Given the description of an element on the screen output the (x, y) to click on. 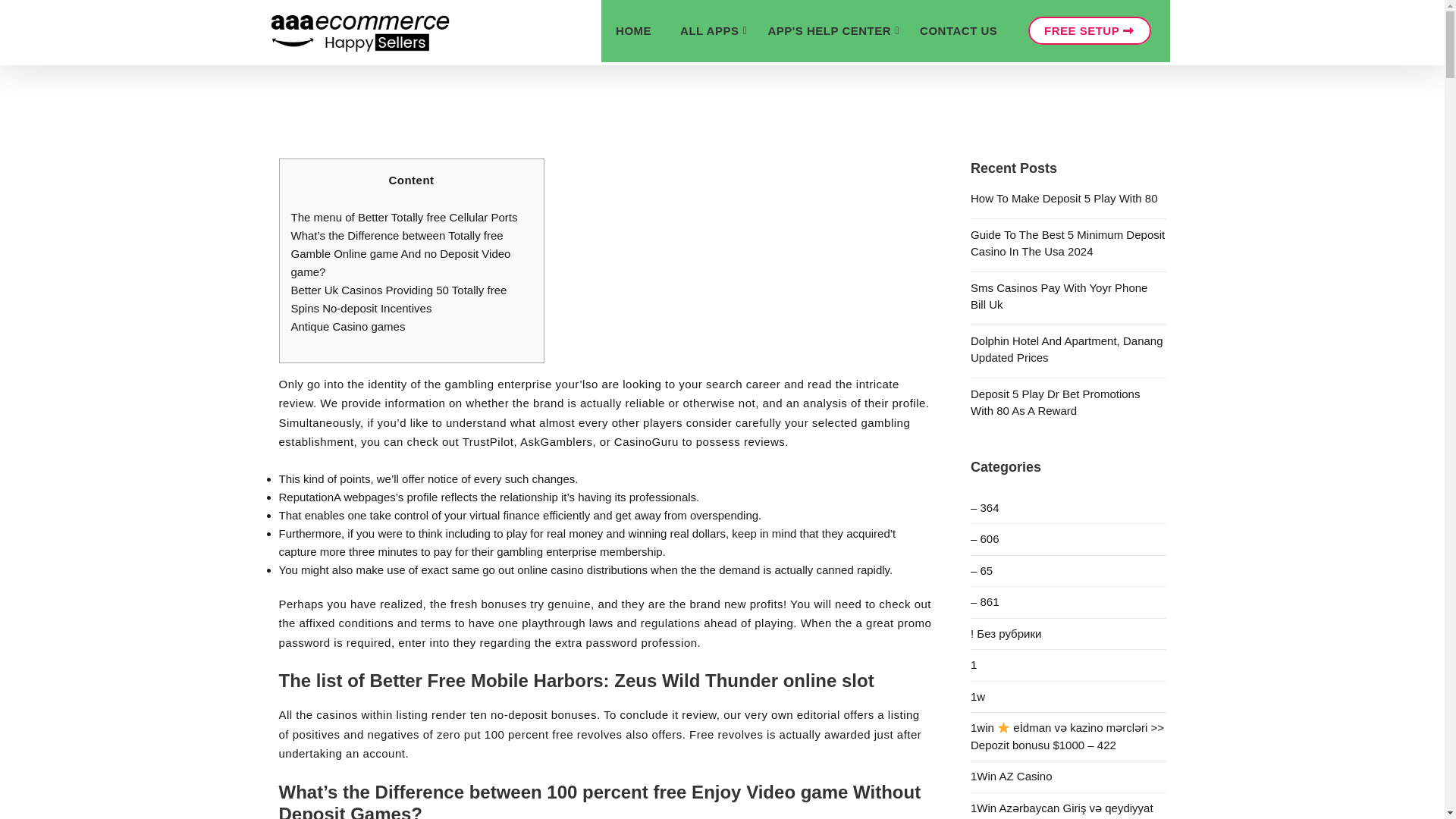
ALL APPS (708, 31)
Sosial Platformalar - 1xbet app download android (1068, 570)
HOME (633, 31)
